Given the description of an element on the screen output the (x, y) to click on. 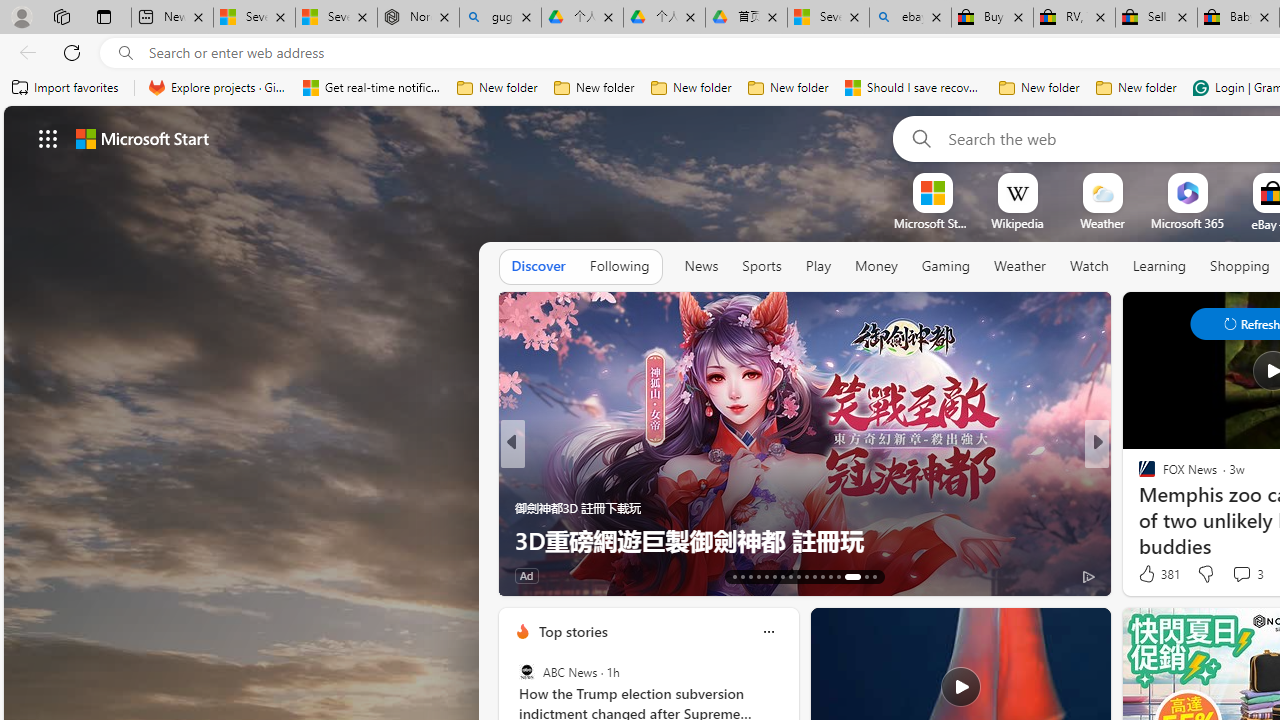
Microsoft 365 (1186, 223)
AutomationID: tab-17 (765, 576)
More options (768, 631)
3 Like (528, 574)
Microsoft start (142, 138)
Class: control (47, 138)
Gaming (945, 265)
AutomationID: tab-28 (859, 576)
AutomationID: tab-29 (874, 576)
Play (817, 265)
Learning (1159, 267)
